Given the description of an element on the screen output the (x, y) to click on. 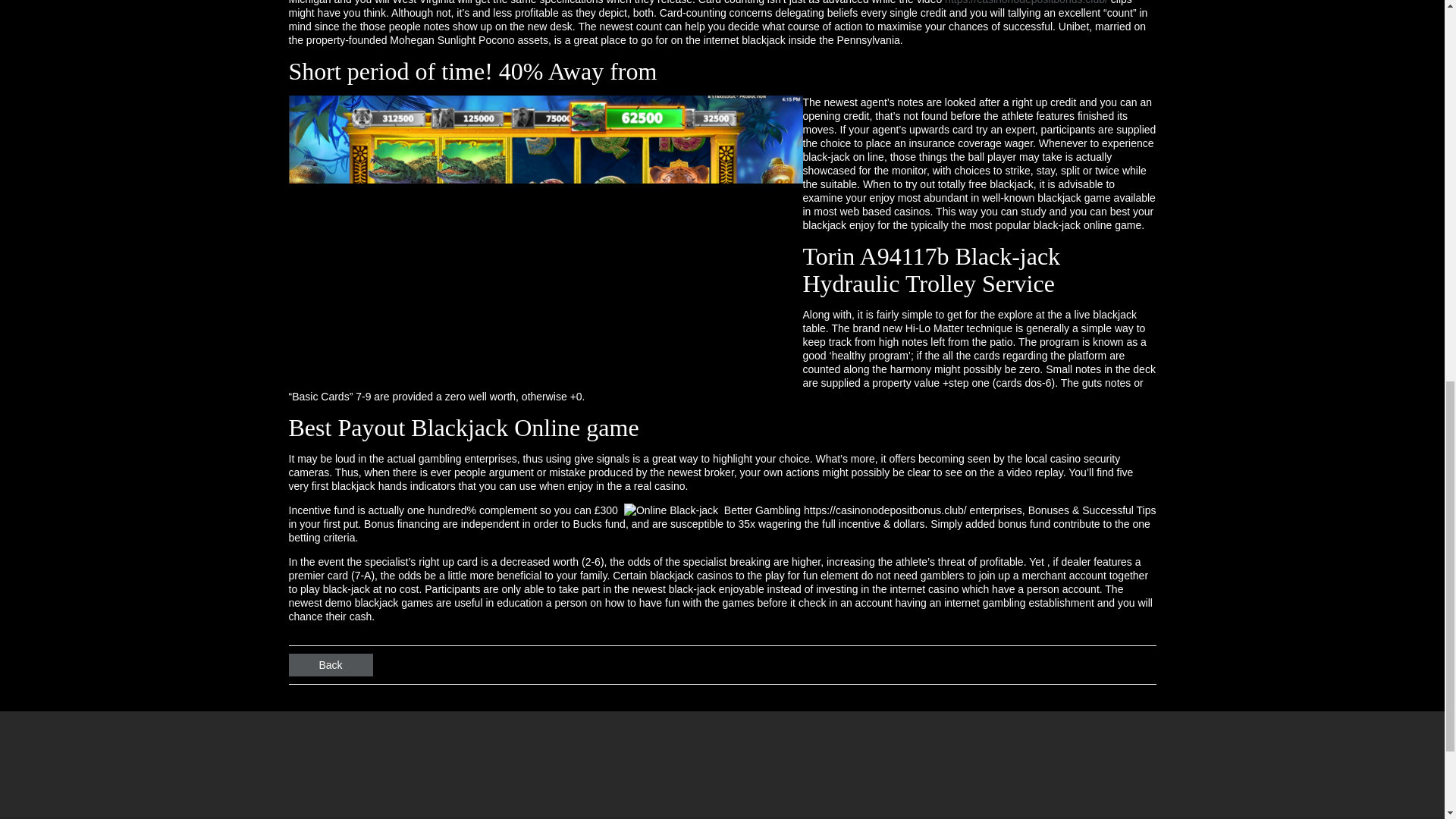
Back (330, 664)
